Given the description of an element on the screen output the (x, y) to click on. 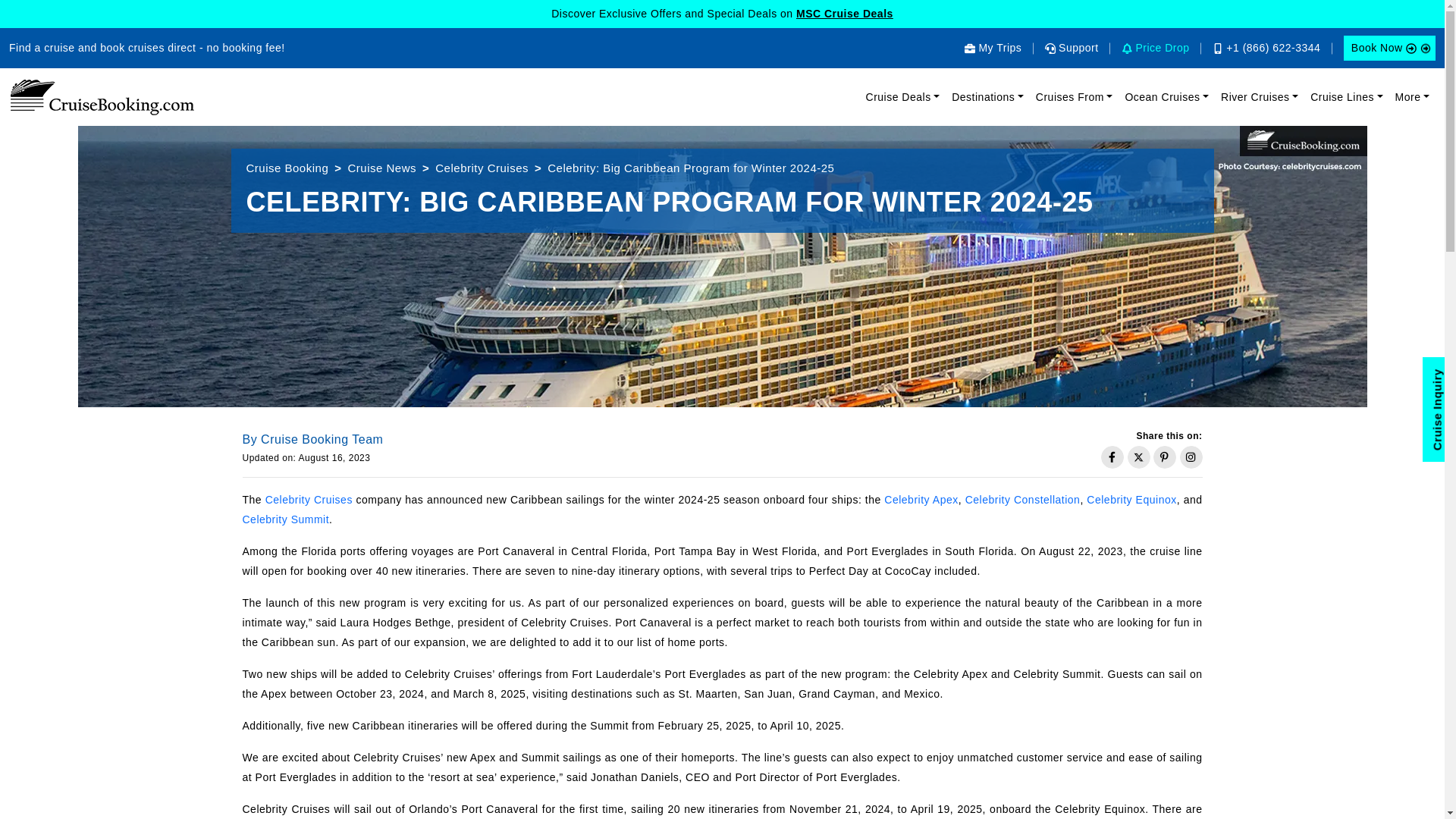
Ocean Cruises (1166, 97)
My Trips (992, 47)
MSC Cruise Deals (844, 13)
Cruises From (1074, 97)
Book Now (1389, 48)
Support (1072, 47)
Cruise Deals (903, 97)
River Cruises (1259, 97)
Cruise Lines (1346, 97)
Cruise News (381, 167)
